Given the description of an element on the screen output the (x, y) to click on. 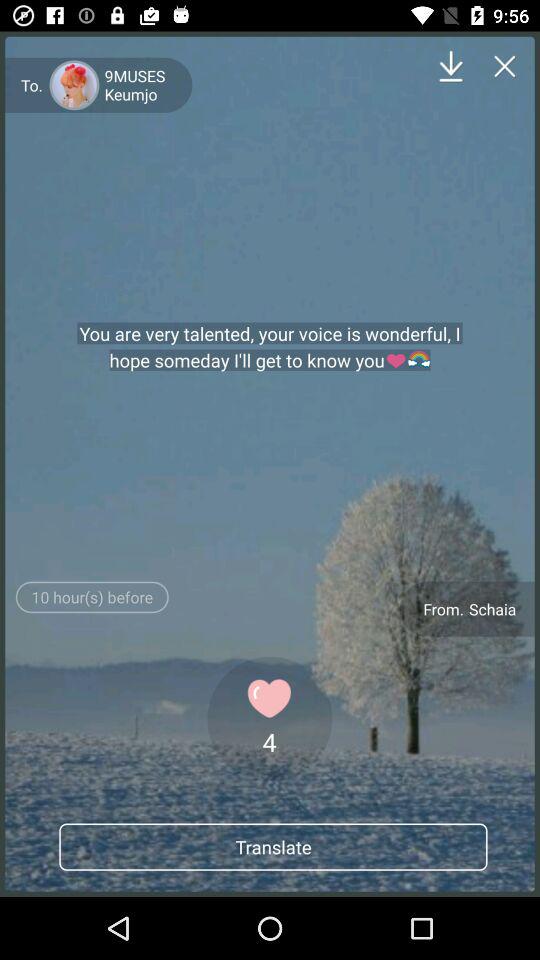
download (450, 66)
